Given the description of an element on the screen output the (x, y) to click on. 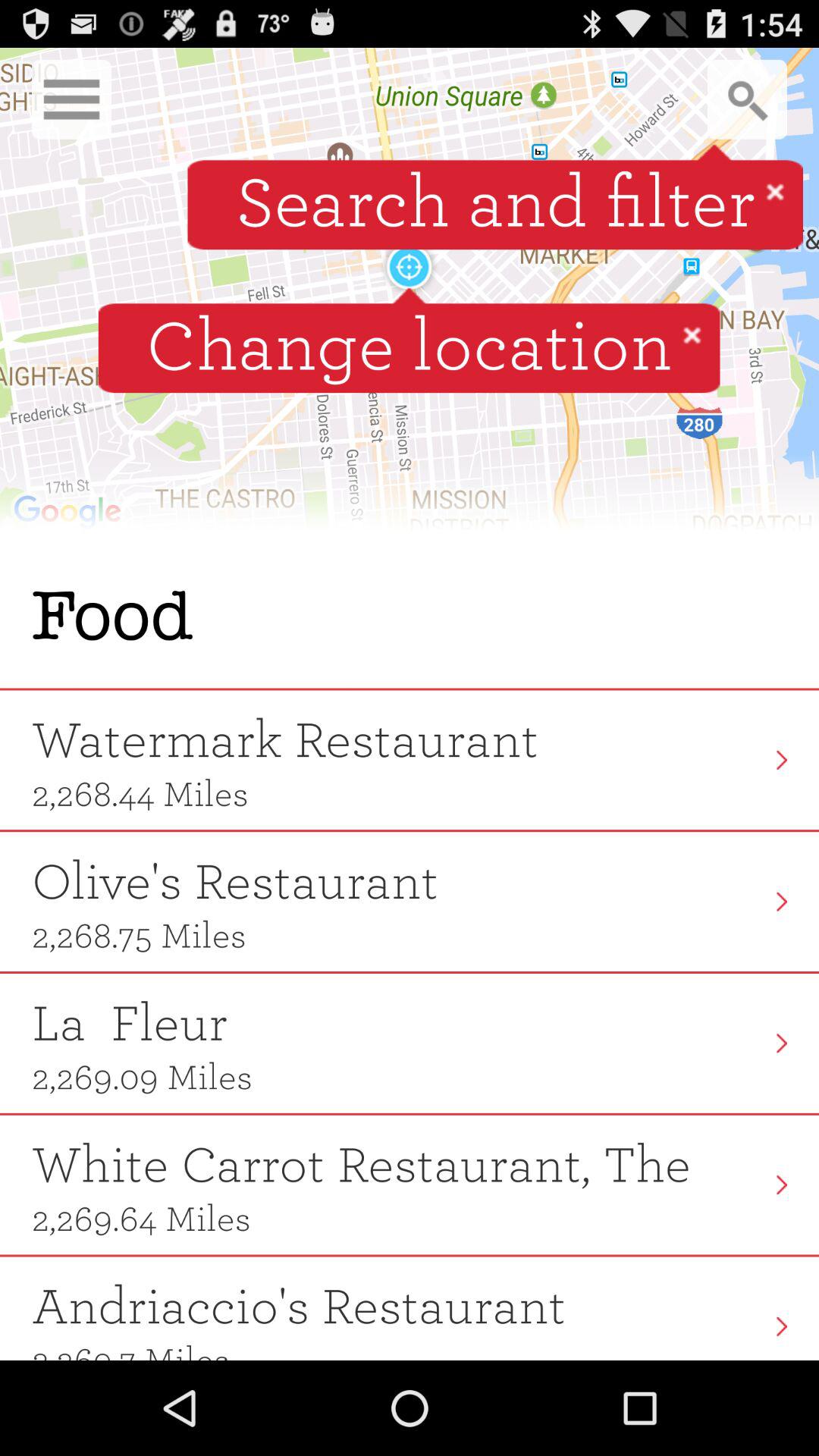
search (747, 99)
